Given the description of an element on the screen output the (x, y) to click on. 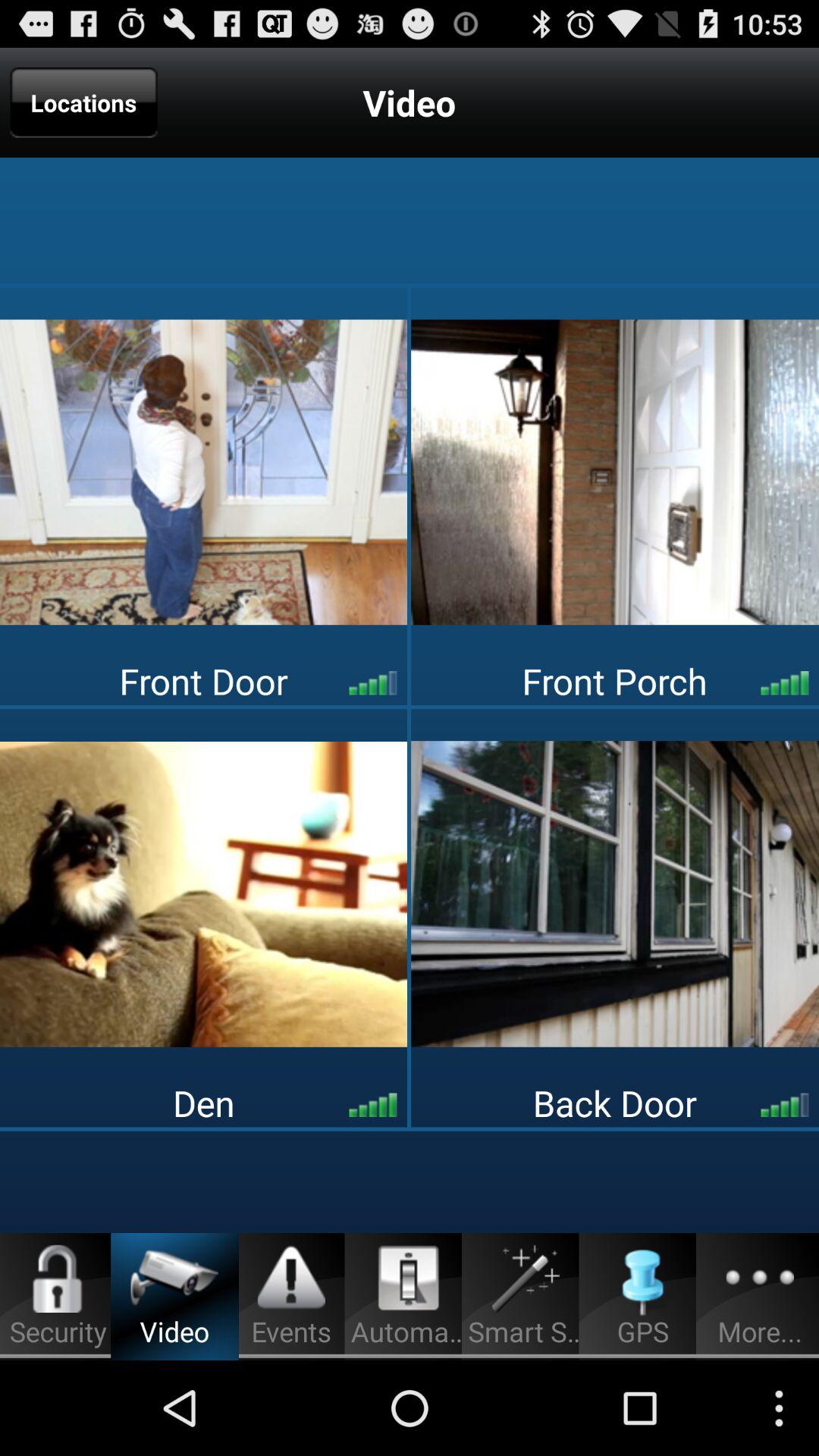
turn on item to the left of video item (83, 102)
